Given the description of an element on the screen output the (x, y) to click on. 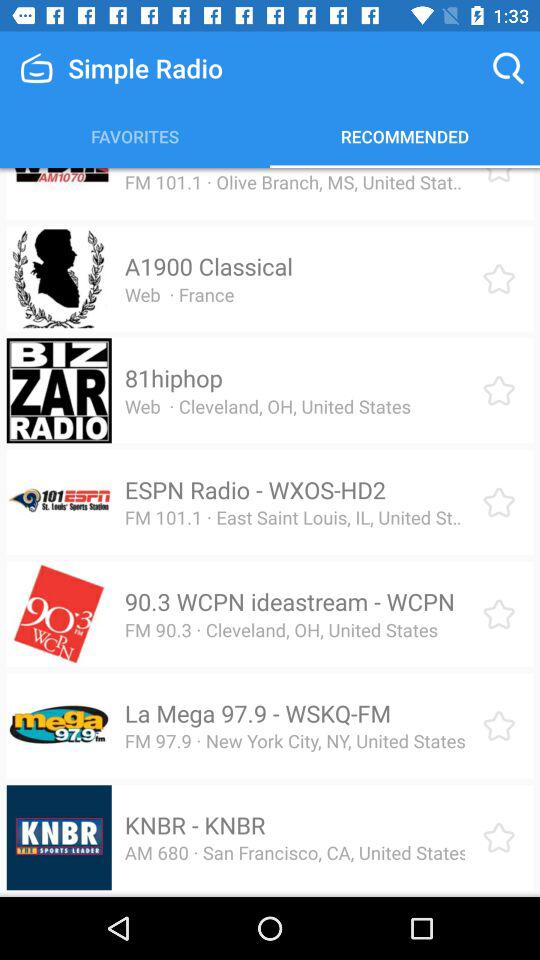
select the espn radio wxos icon (254, 489)
